Given the description of an element on the screen output the (x, y) to click on. 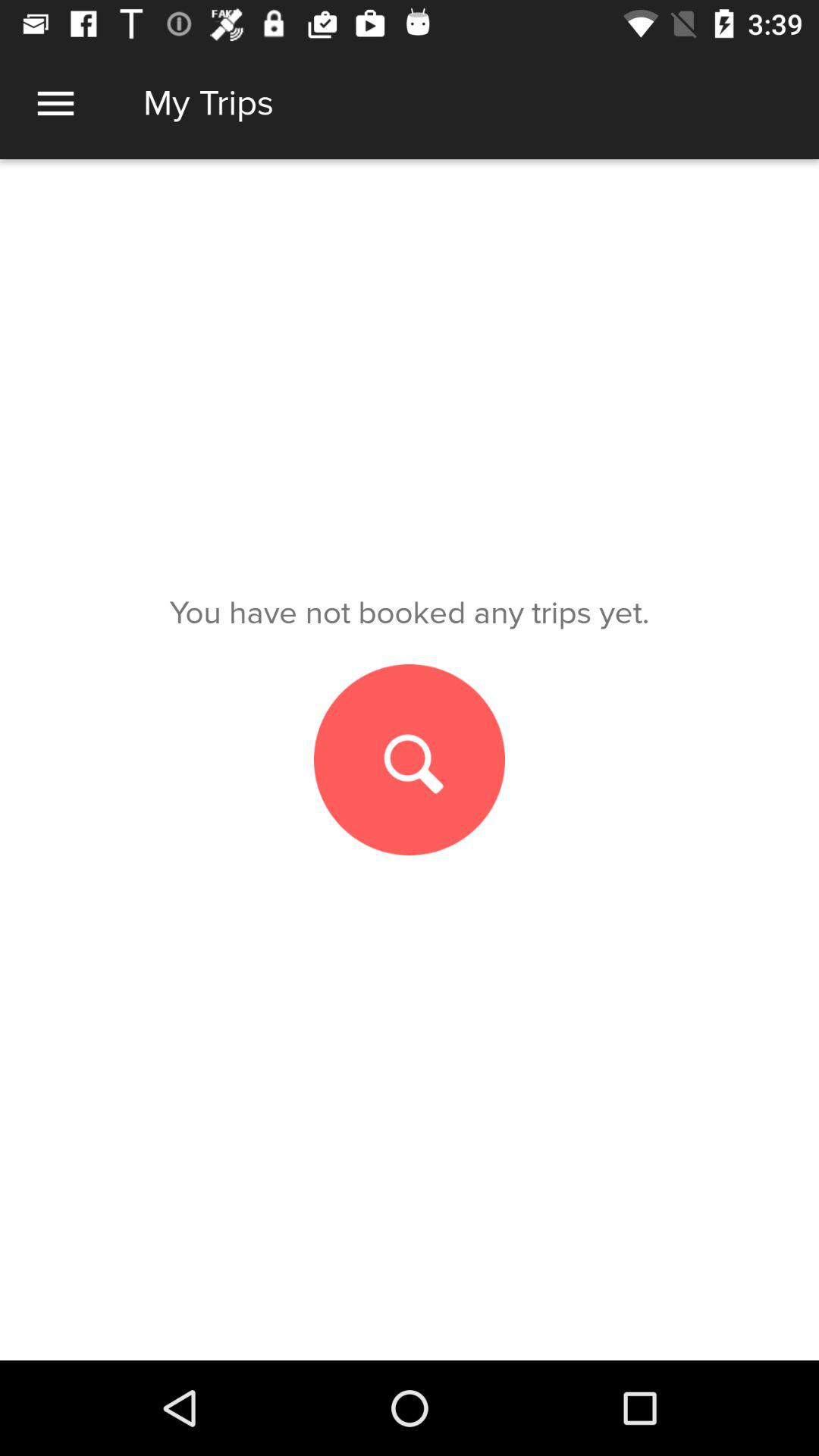
click item above you have not item (55, 103)
